Given the description of an element on the screen output the (x, y) to click on. 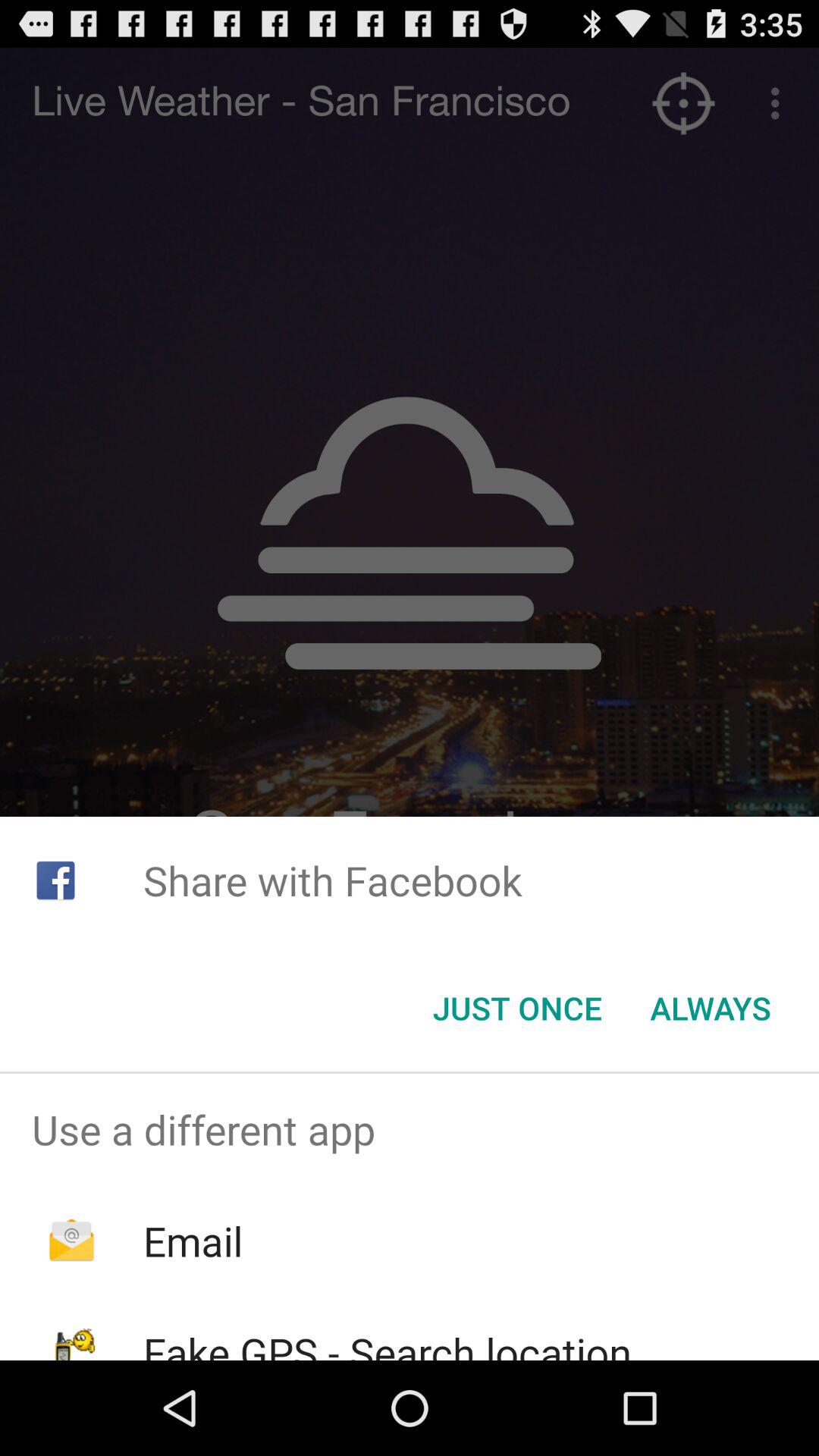
click always item (710, 1007)
